Given the description of an element on the screen output the (x, y) to click on. 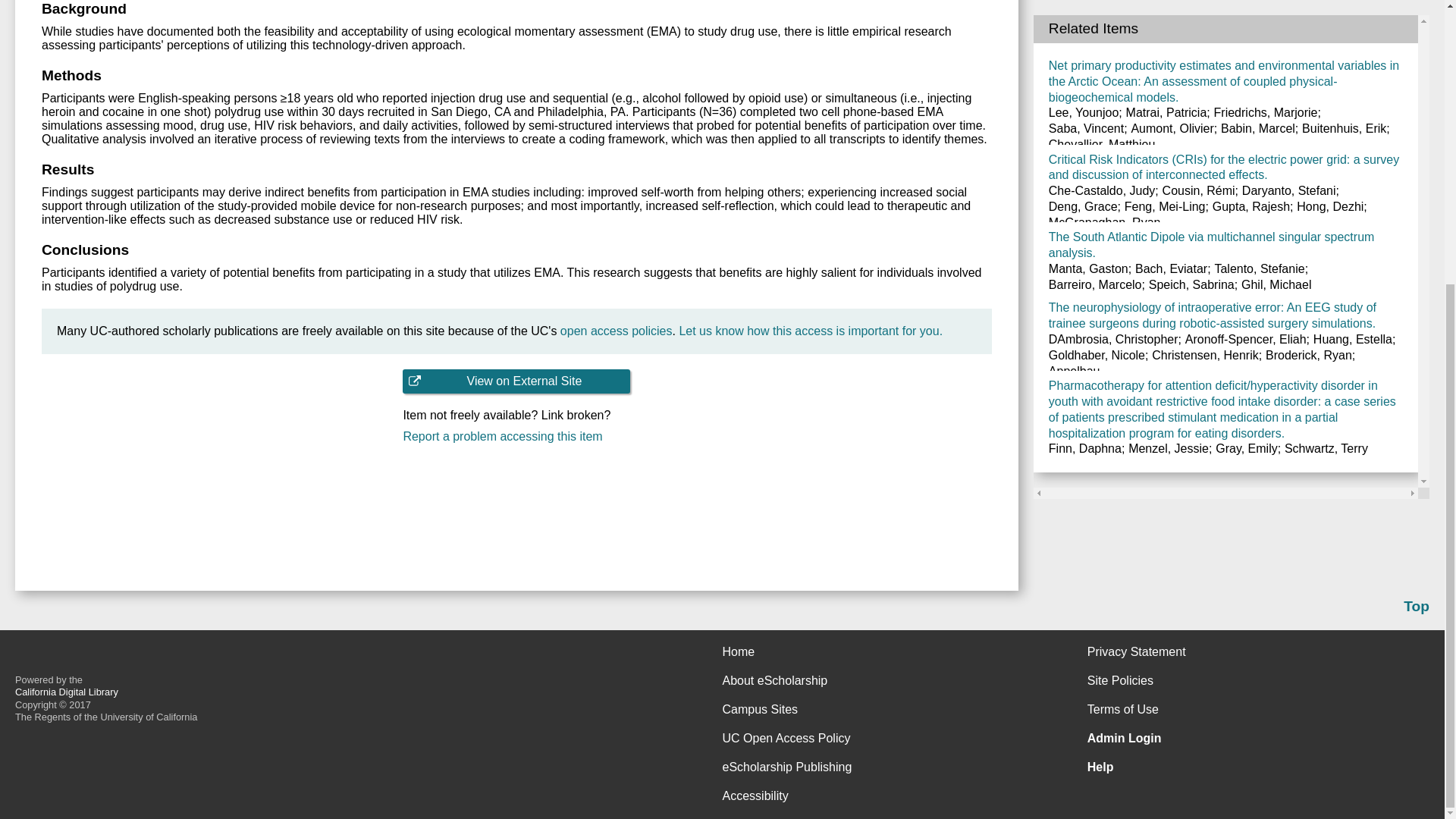
Report a problem accessing this item (516, 436)
Let us know how this access is important for you. (810, 330)
View on External Site (516, 381)
open access policies (616, 330)
